Given the description of an element on the screen output the (x, y) to click on. 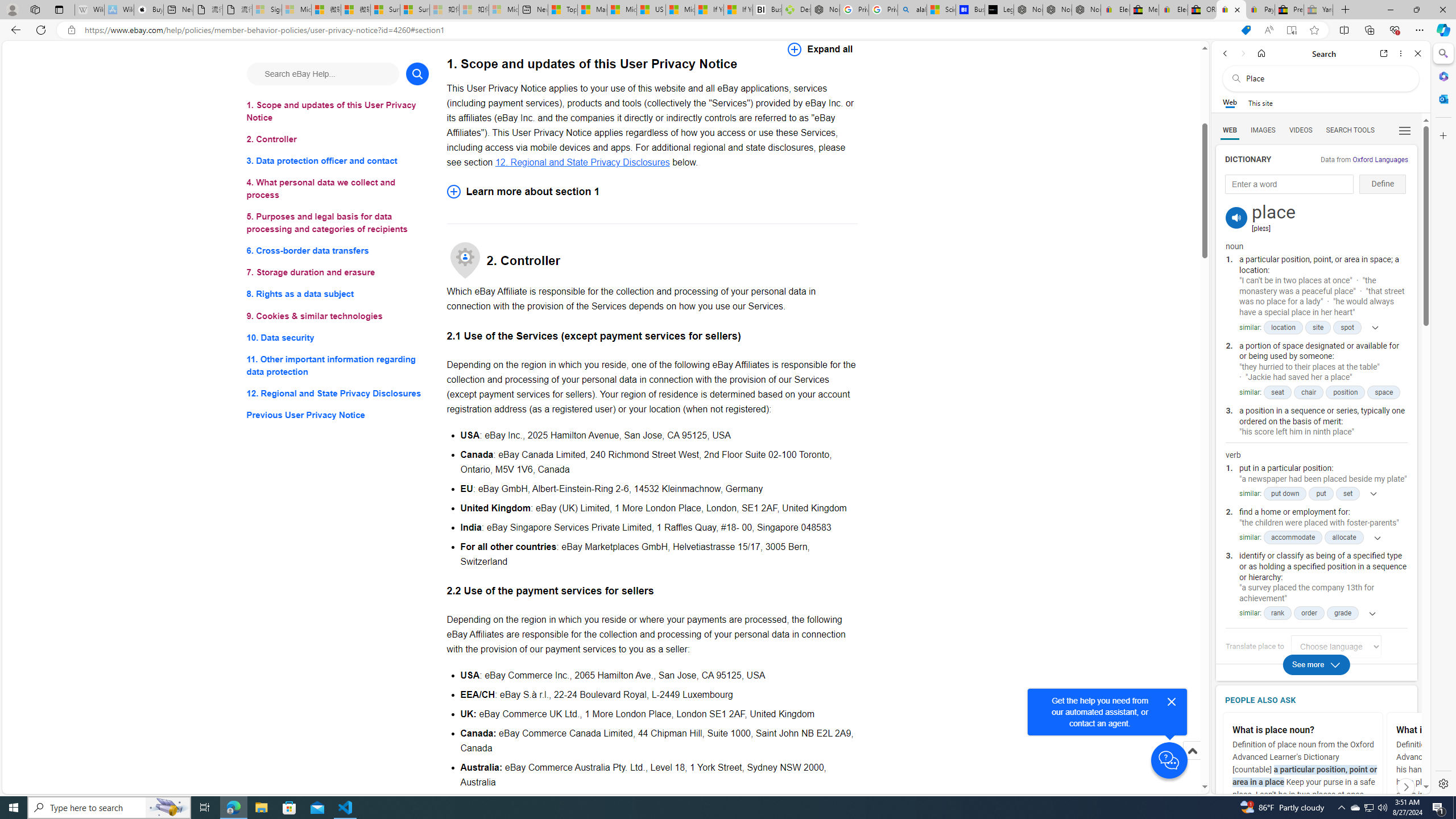
space (1383, 392)
Web scope (1230, 102)
2. Controller (337, 138)
US Heat Deaths Soared To Record High Last Year (651, 9)
Link for logging (1339, 646)
9. Cookies & similar technologies (337, 315)
IMAGES (1262, 130)
Translate place to Choose language (1335, 646)
allocate (1344, 537)
